Given the description of an element on the screen output the (x, y) to click on. 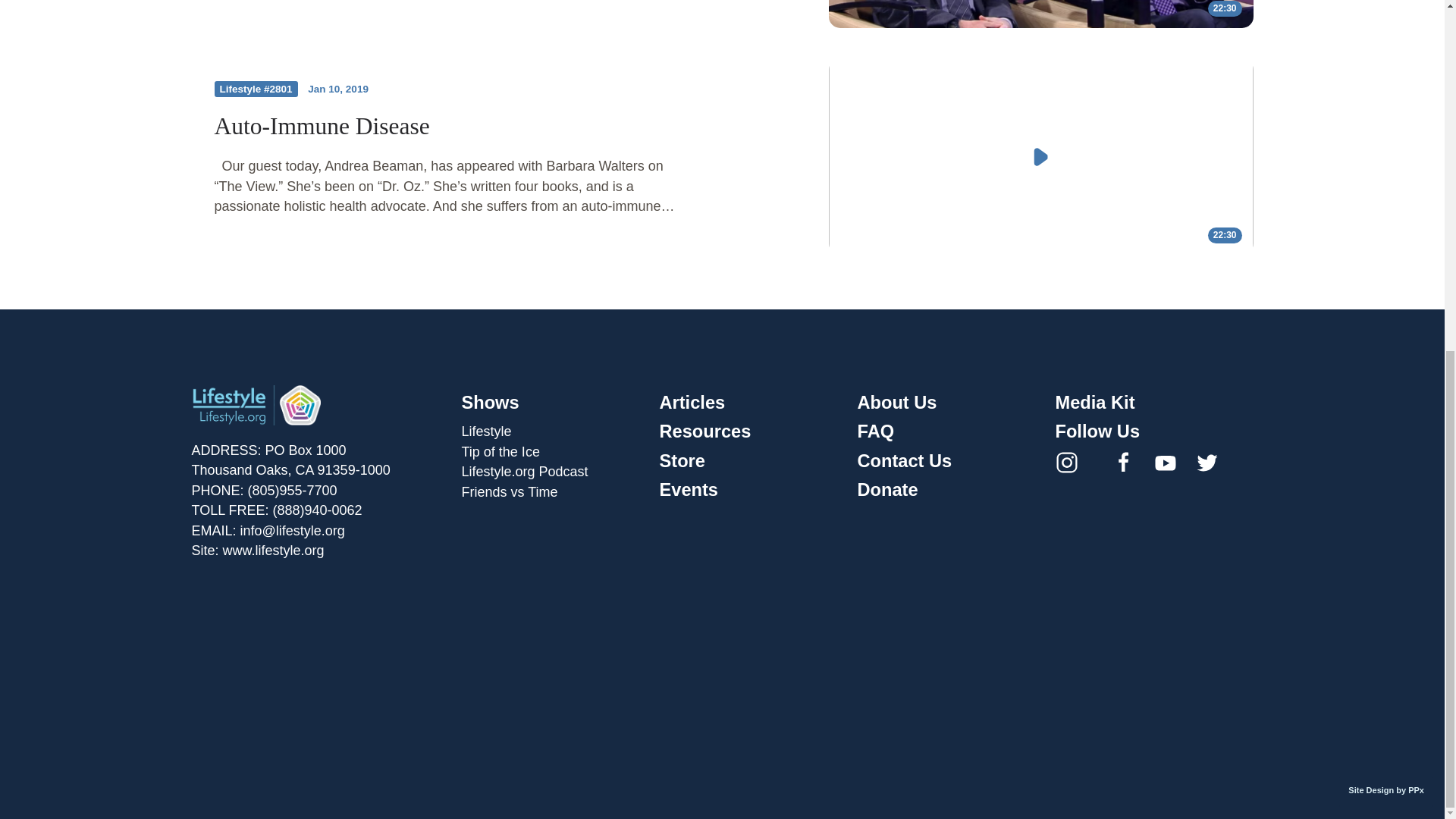
Shows (489, 403)
Auto-Immune Disease (321, 126)
